Given the description of an element on the screen output the (x, y) to click on. 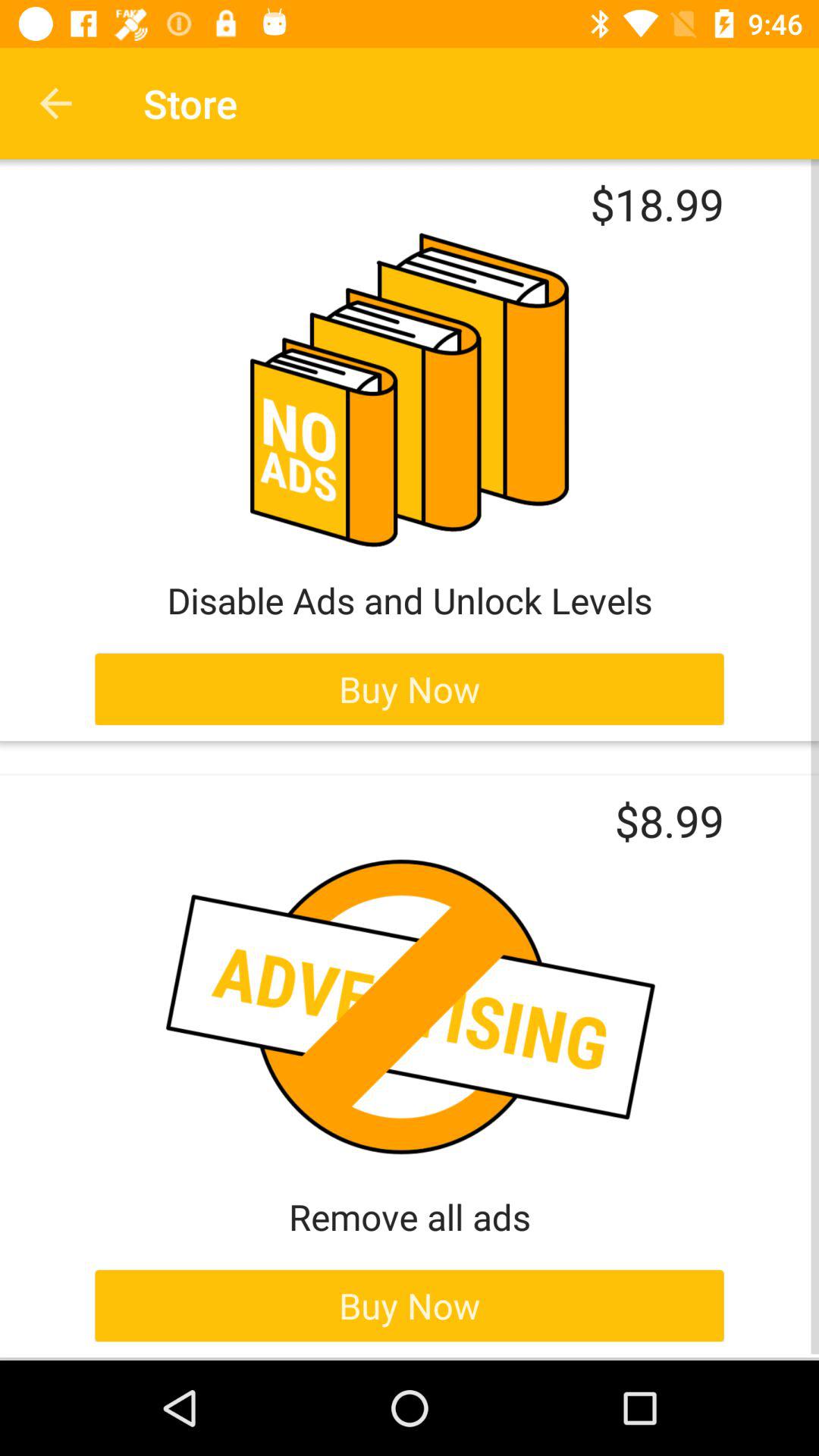
open icon next to the store item (55, 103)
